Given the description of an element on the screen output the (x, y) to click on. 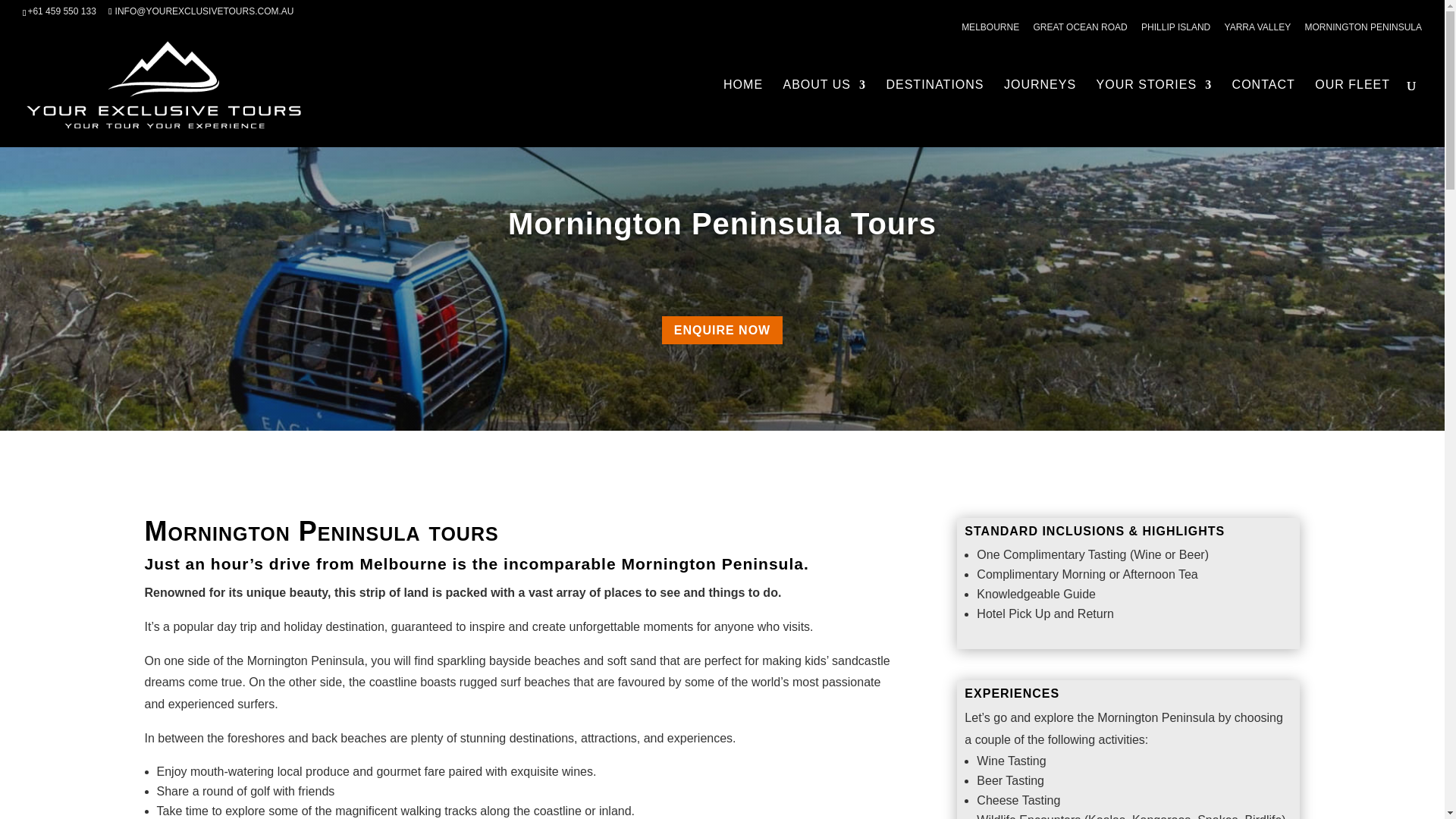
CONTACT (1263, 113)
PHILLIP ISLAND (1175, 30)
DESTINATIONS (934, 113)
YARRA VALLEY (1257, 30)
MORNINGTON PENINSULA (1363, 30)
YOUR STORIES (1154, 113)
ABOUT US (824, 113)
GREAT OCEAN ROAD (1079, 30)
JOURNEYS (1039, 113)
OUR FLEET (1352, 113)
MELBOURNE (989, 30)
